Given the description of an element on the screen output the (x, y) to click on. 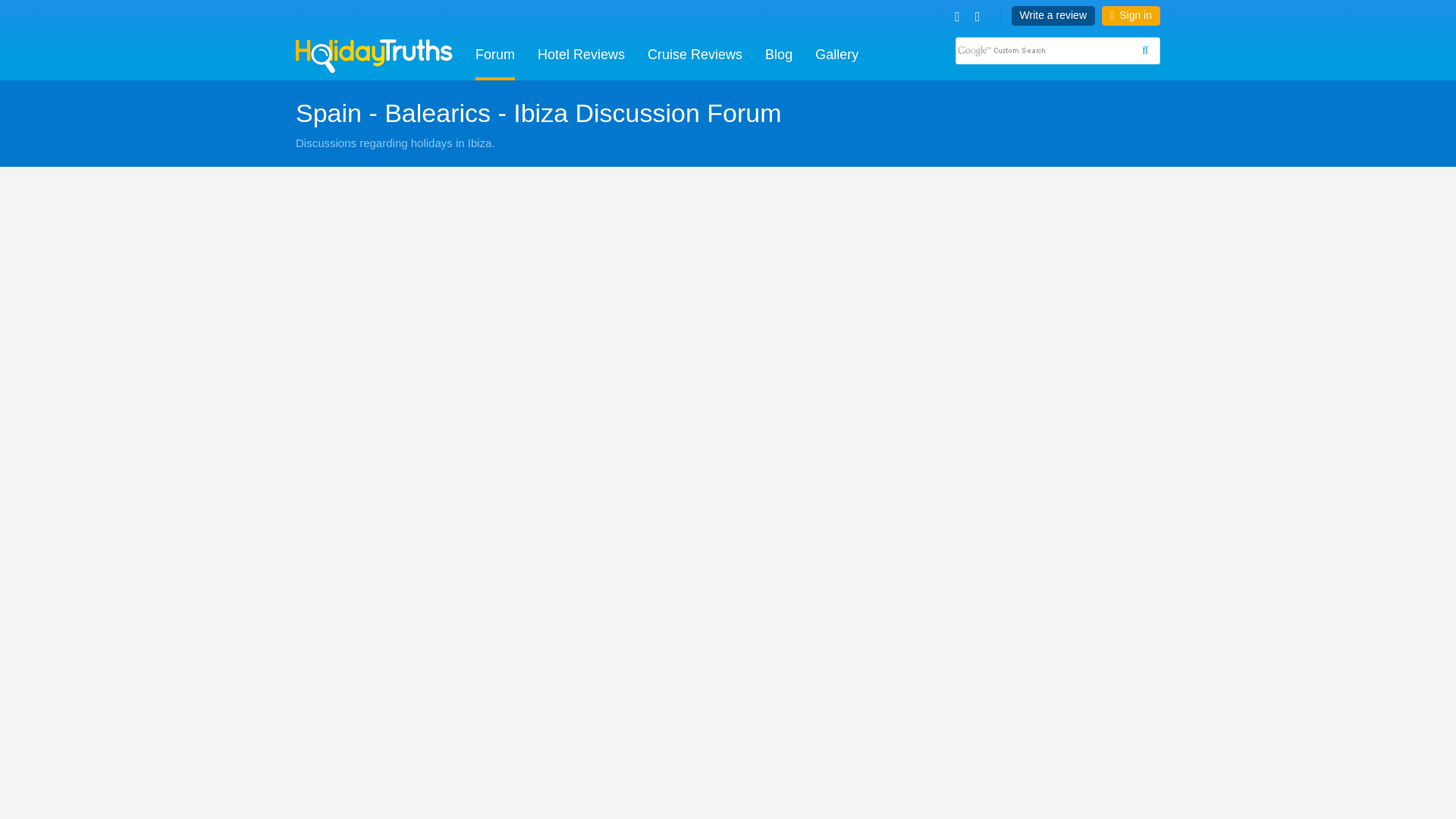
Write a review (1052, 15)
Sign in (1131, 15)
Hotel Reviews (580, 55)
Gallery (837, 55)
Cruise Reviews (694, 55)
